Given the description of an element on the screen output the (x, y) to click on. 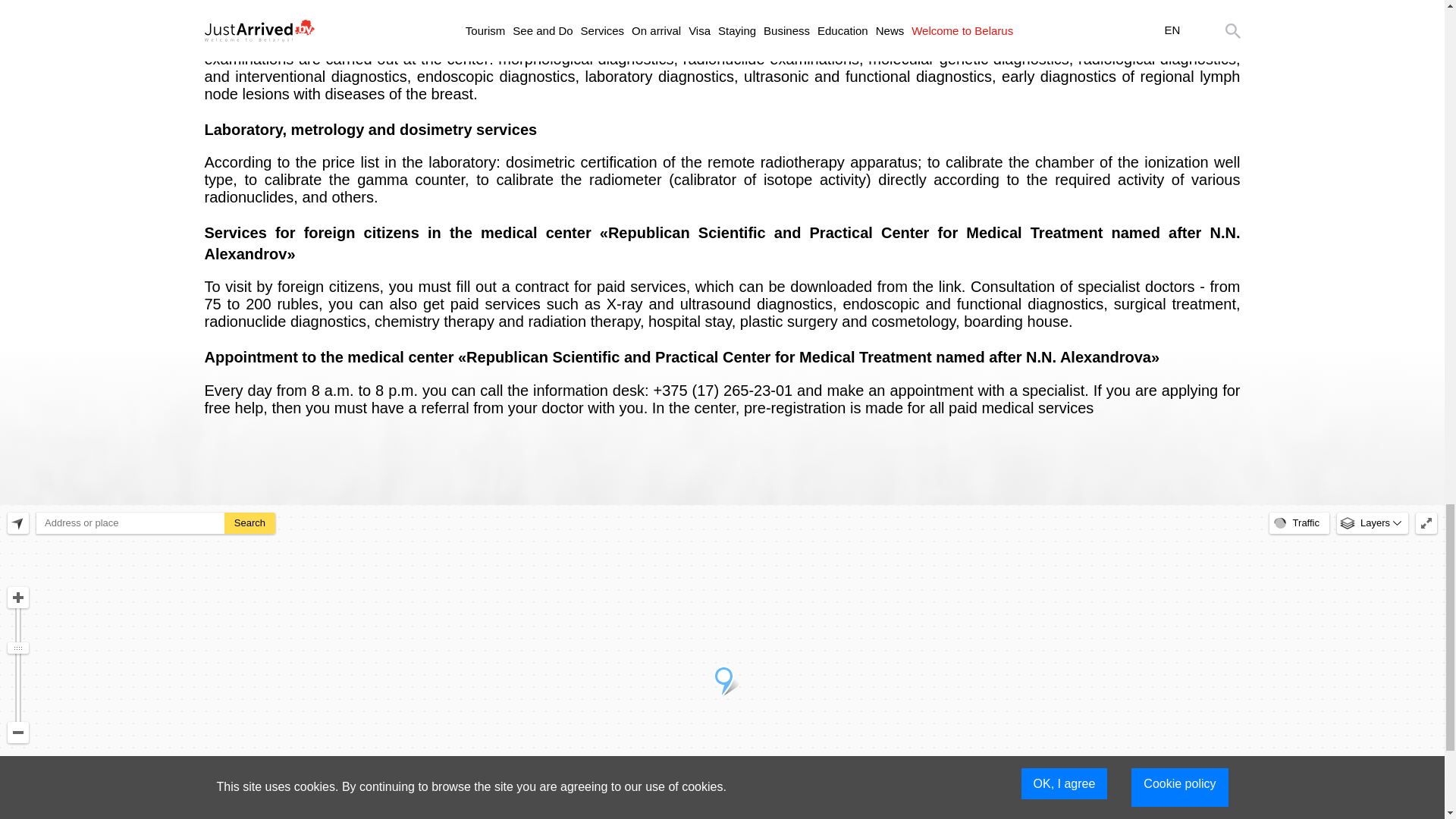
Detect your current location (18, 522)
